Given the description of an element on the screen output the (x, y) to click on. 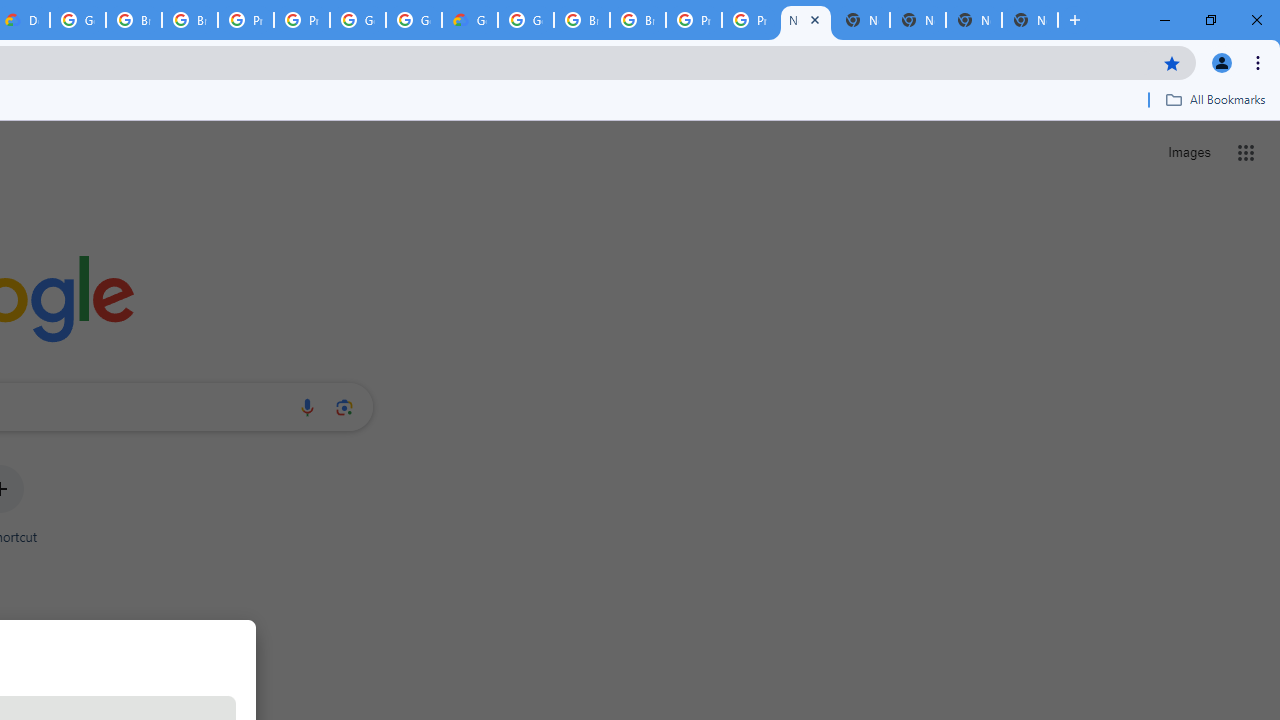
Google Cloud Estimate Summary (469, 20)
New Tab (1030, 20)
Google Cloud Platform (525, 20)
Google Cloud Platform (358, 20)
Google Cloud Platform (77, 20)
Browse Chrome as a guest - Computer - Google Chrome Help (582, 20)
